Given the description of an element on the screen output the (x, y) to click on. 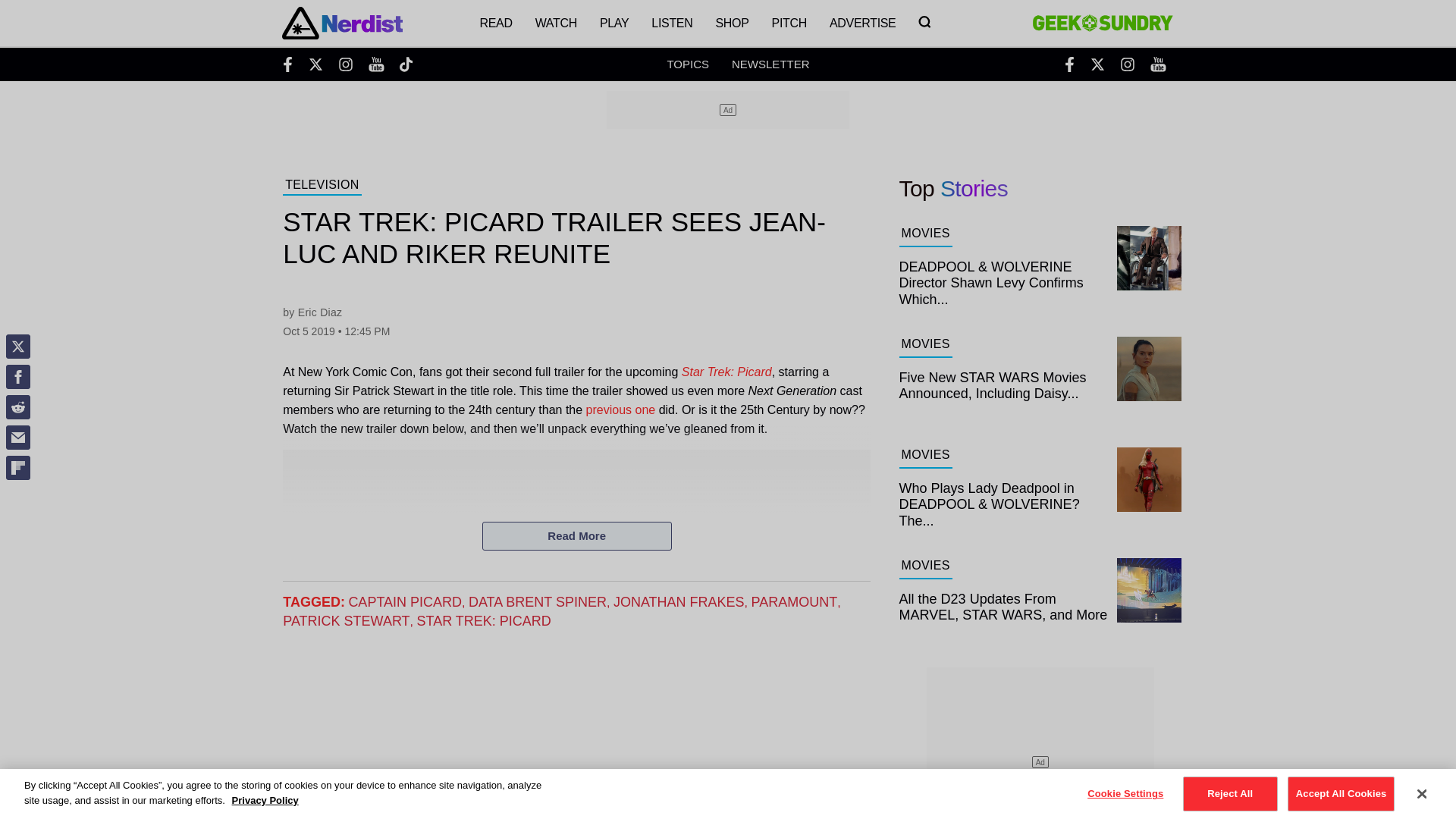
Reject All (1230, 793)
Accept All Cookies (1340, 793)
PITCH (789, 22)
LISTEN (671, 22)
Privacy Policy (264, 799)
READ (494, 22)
NEWSLETTER (770, 63)
TOPICS (687, 63)
Read More (576, 535)
DATA BRENT SPINER (537, 601)
